Given the description of an element on the screen output the (x, y) to click on. 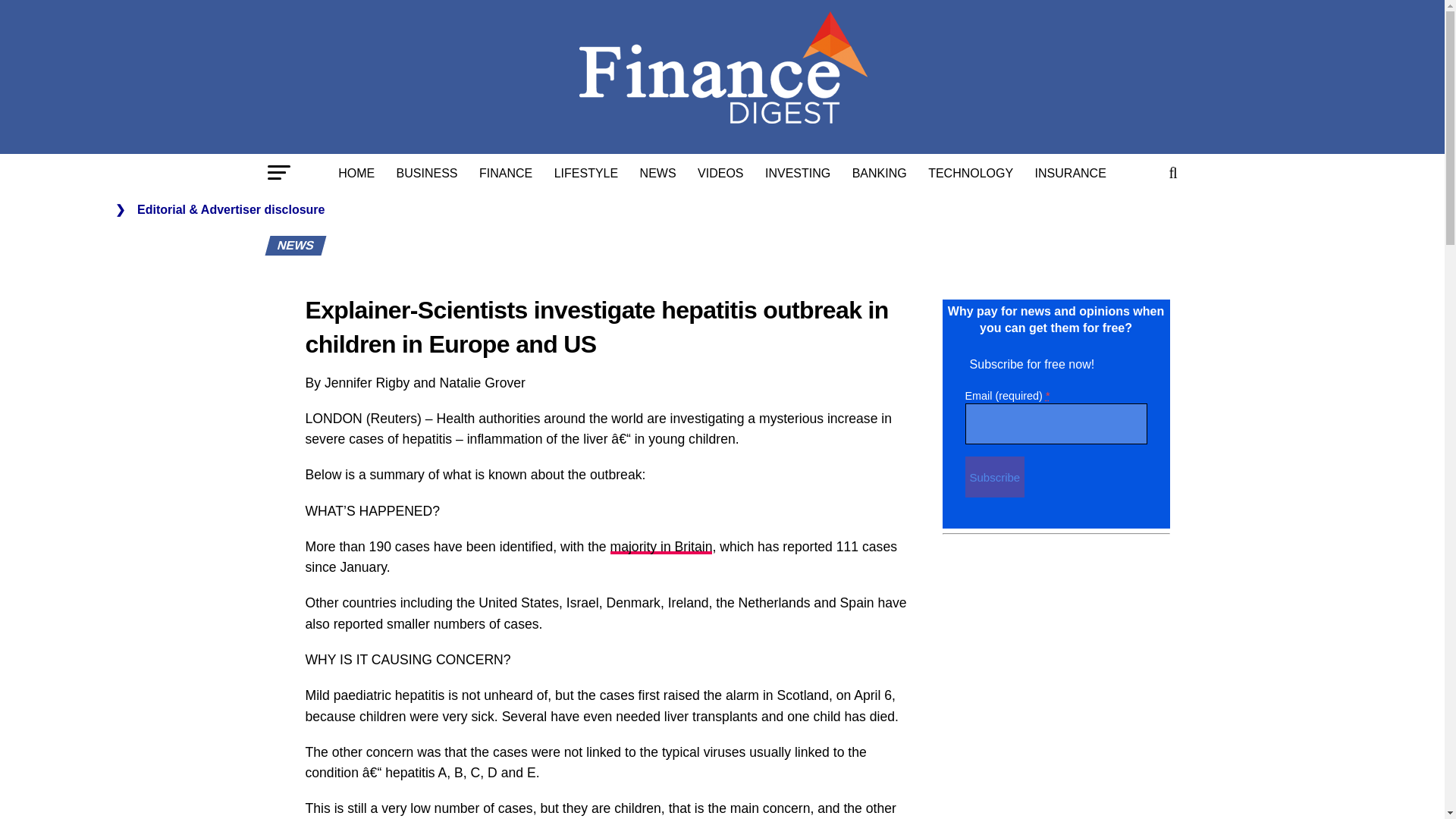
Subscribe (994, 476)
NEWS (657, 173)
BUSINESS (427, 173)
Videos (720, 173)
Business (427, 173)
Lifestyle (585, 173)
HOME (356, 173)
LIFESTYLE (585, 173)
VIDEOS (720, 173)
Investing (797, 173)
Home (356, 173)
FINANCE (505, 173)
Finance (505, 173)
News (657, 173)
Banking (879, 173)
